Given the description of an element on the screen output the (x, y) to click on. 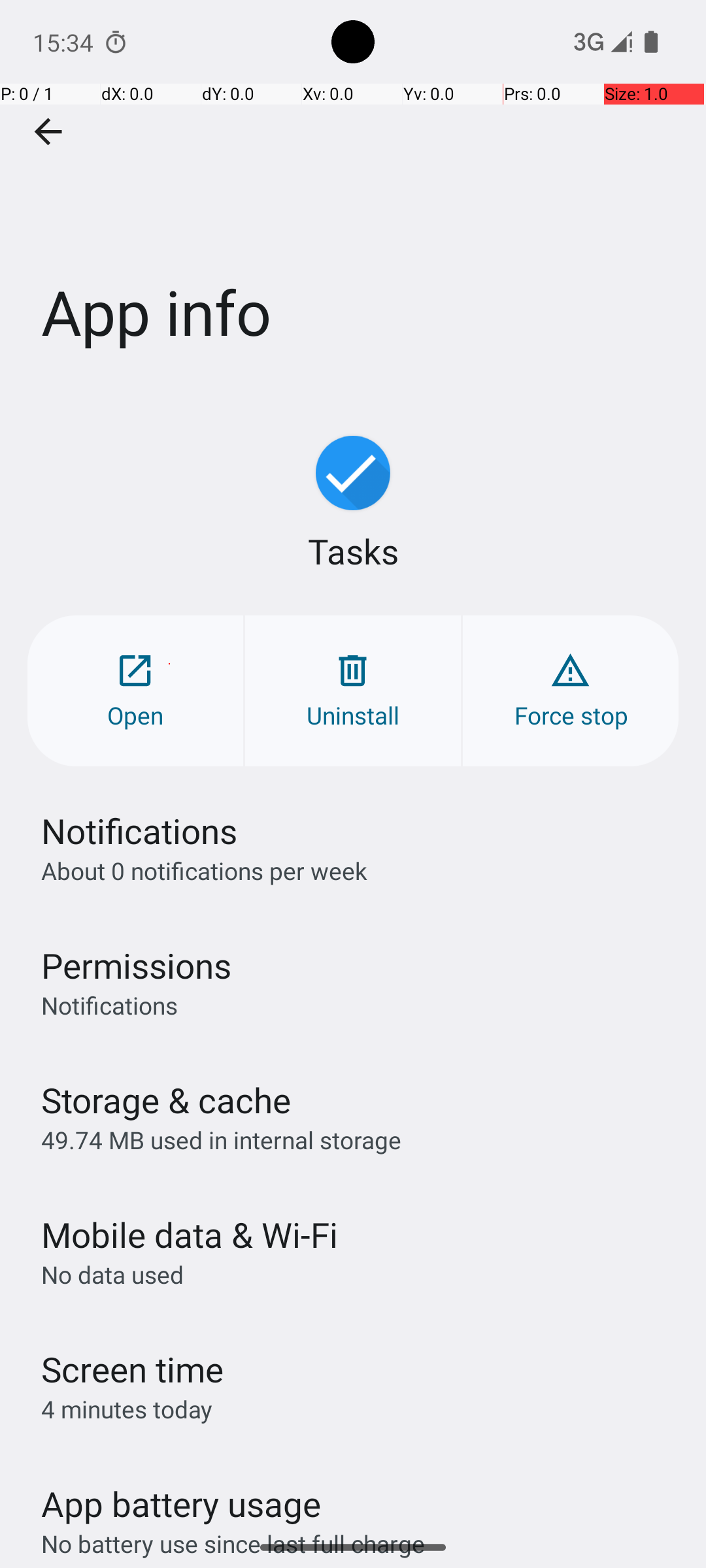
49.74 MB used in internal storage Element type: android.widget.TextView (221, 1139)
4 minutes today Element type: android.widget.TextView (127, 1408)
